Given the description of an element on the screen output the (x, y) to click on. 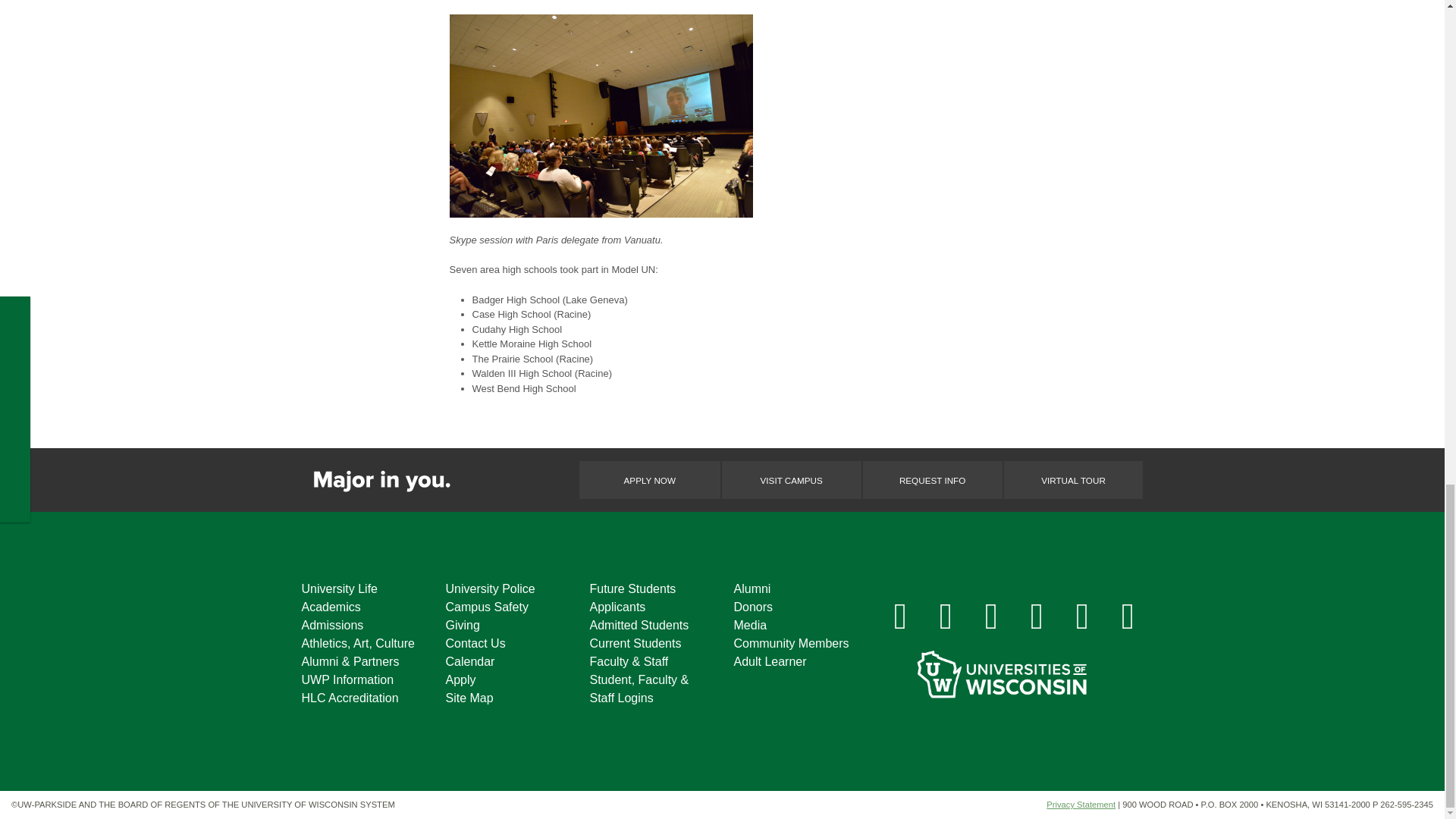
LinkedIn (1036, 615)
TikTok (1082, 615)
Model UN Skype (600, 115)
Facebook (900, 615)
Email Admissions (1128, 615)
Instagram (946, 615)
X (991, 615)
